Given the description of an element on the screen output the (x, y) to click on. 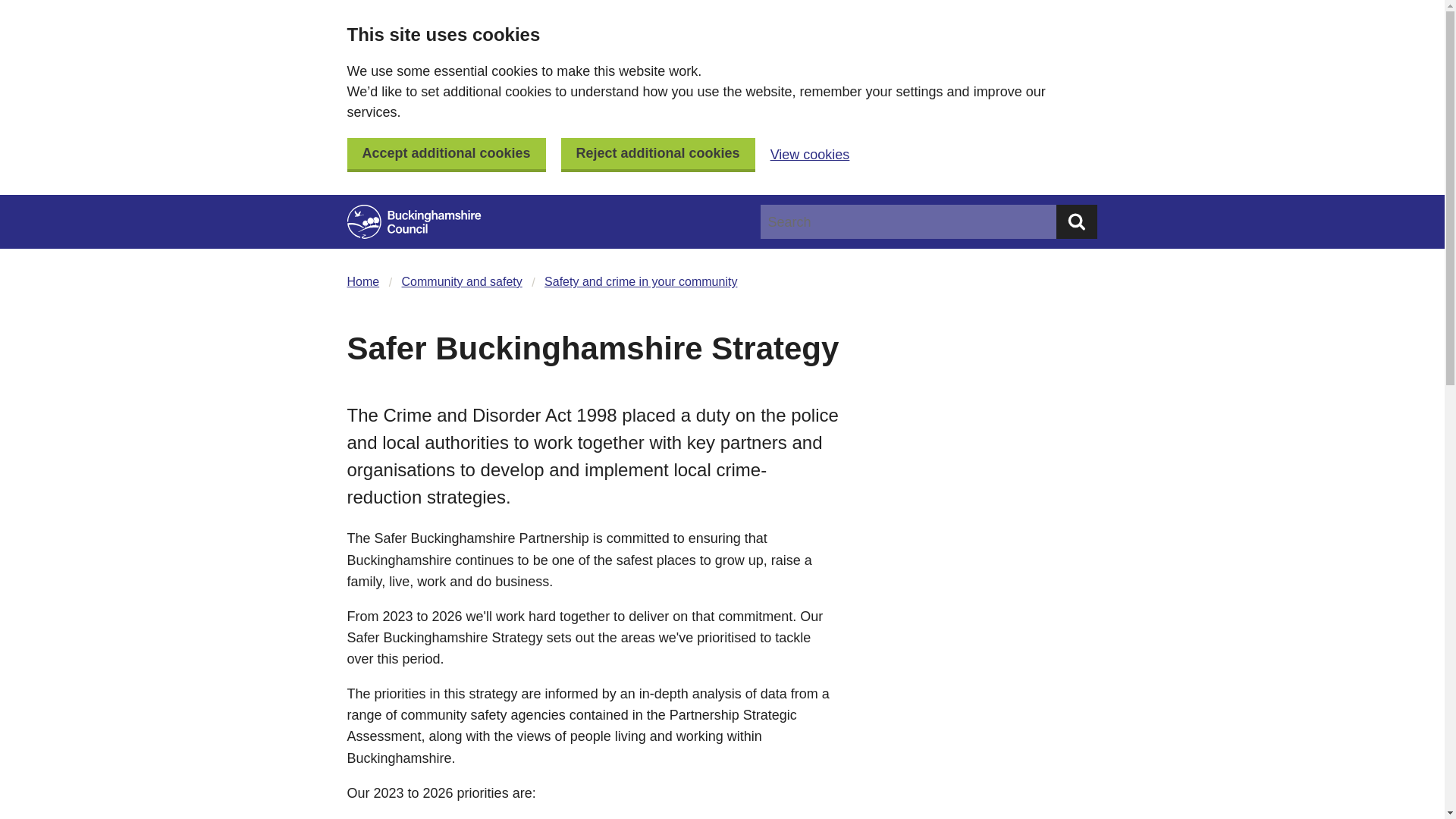
Community and safety (461, 281)
View cookies (810, 154)
Safety and crime in your community (640, 281)
Reject additional cookies (657, 154)
Home (363, 281)
Accept additional cookies (446, 154)
